Given the description of an element on the screen output the (x, y) to click on. 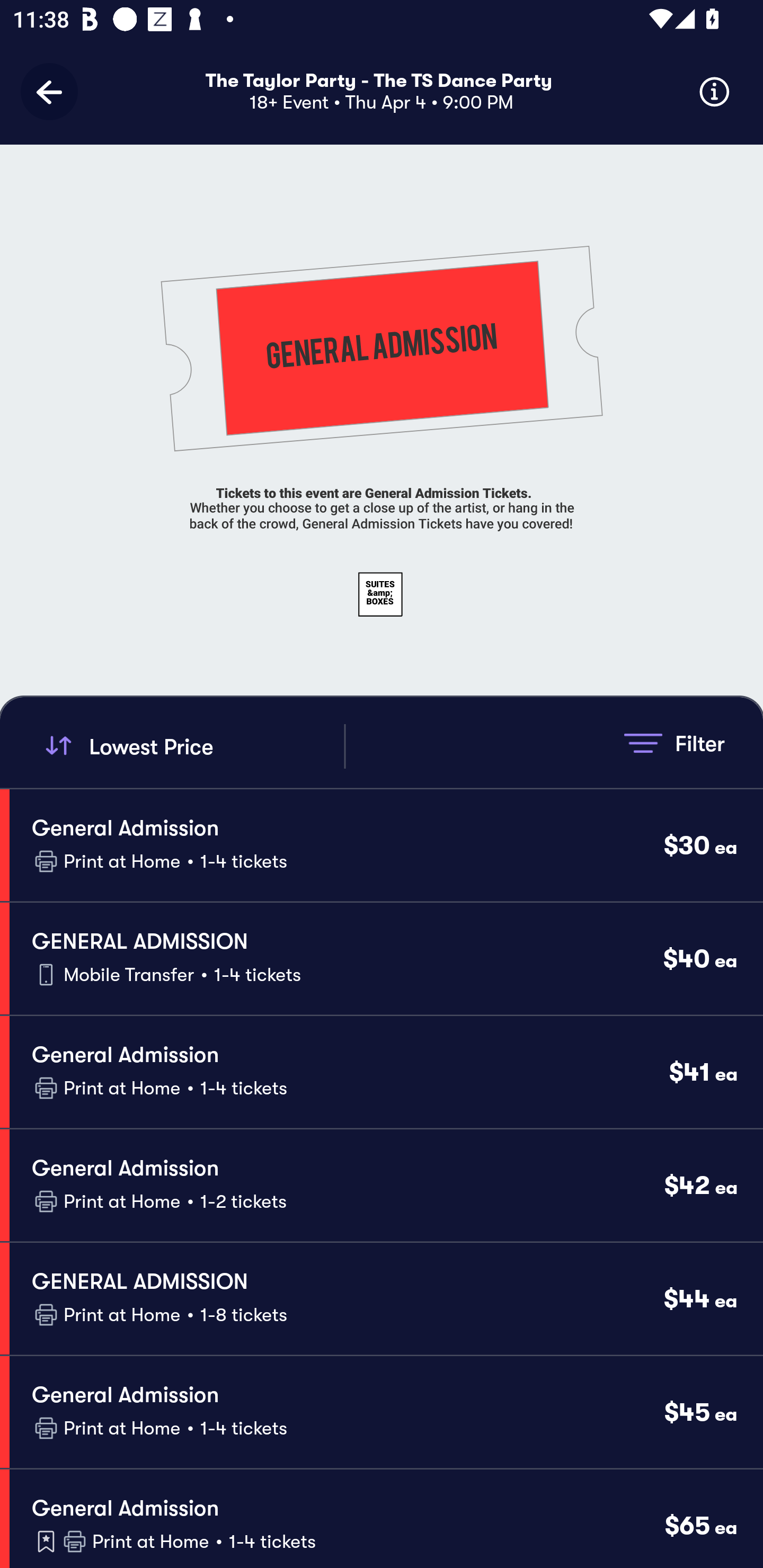
Lowest Price (191, 746)
Filter (674, 743)
